Given the description of an element on the screen output the (x, y) to click on. 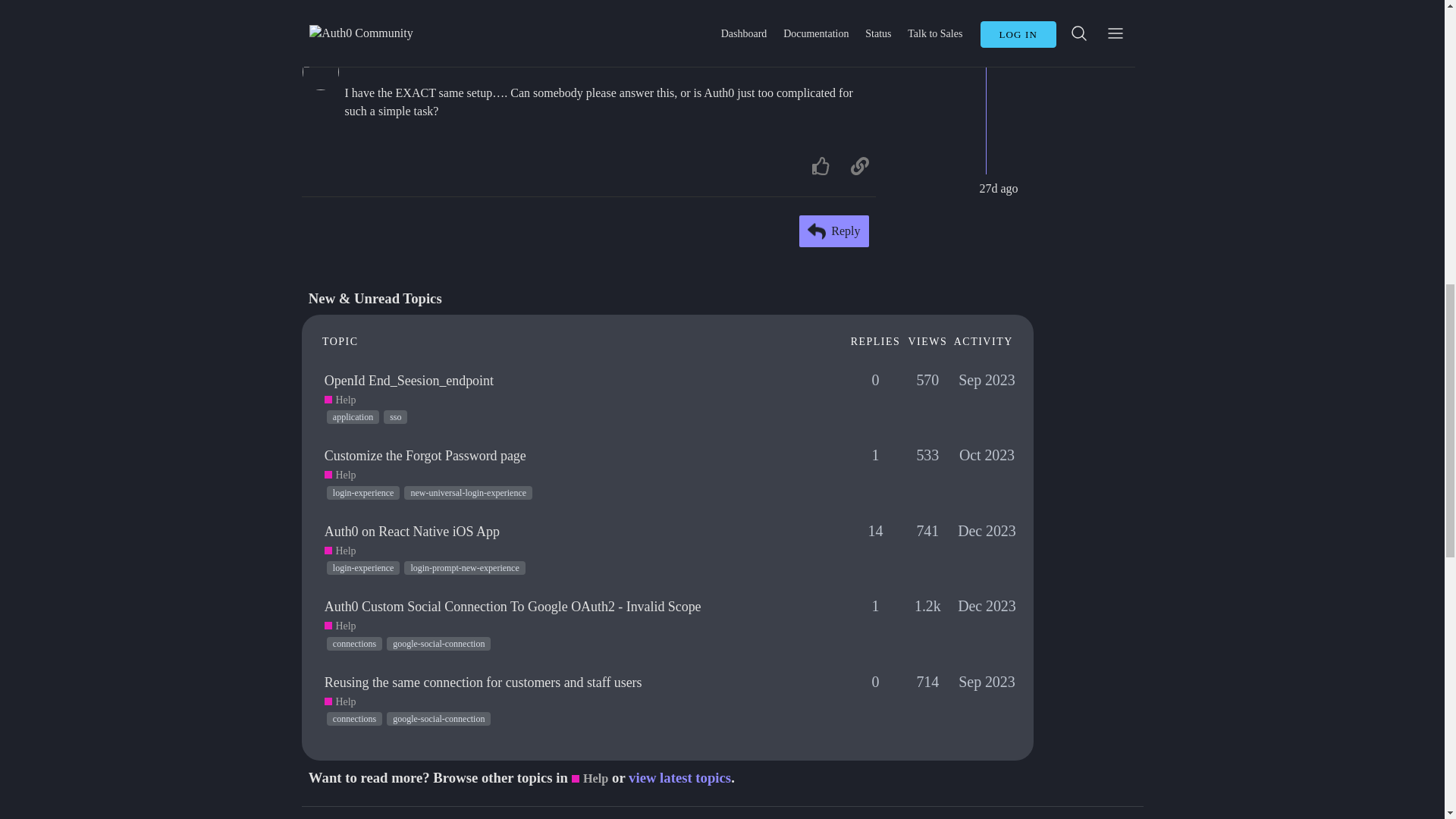
Reply (834, 231)
Help (340, 400)
27d (857, 60)
